Given the description of an element on the screen output the (x, y) to click on. 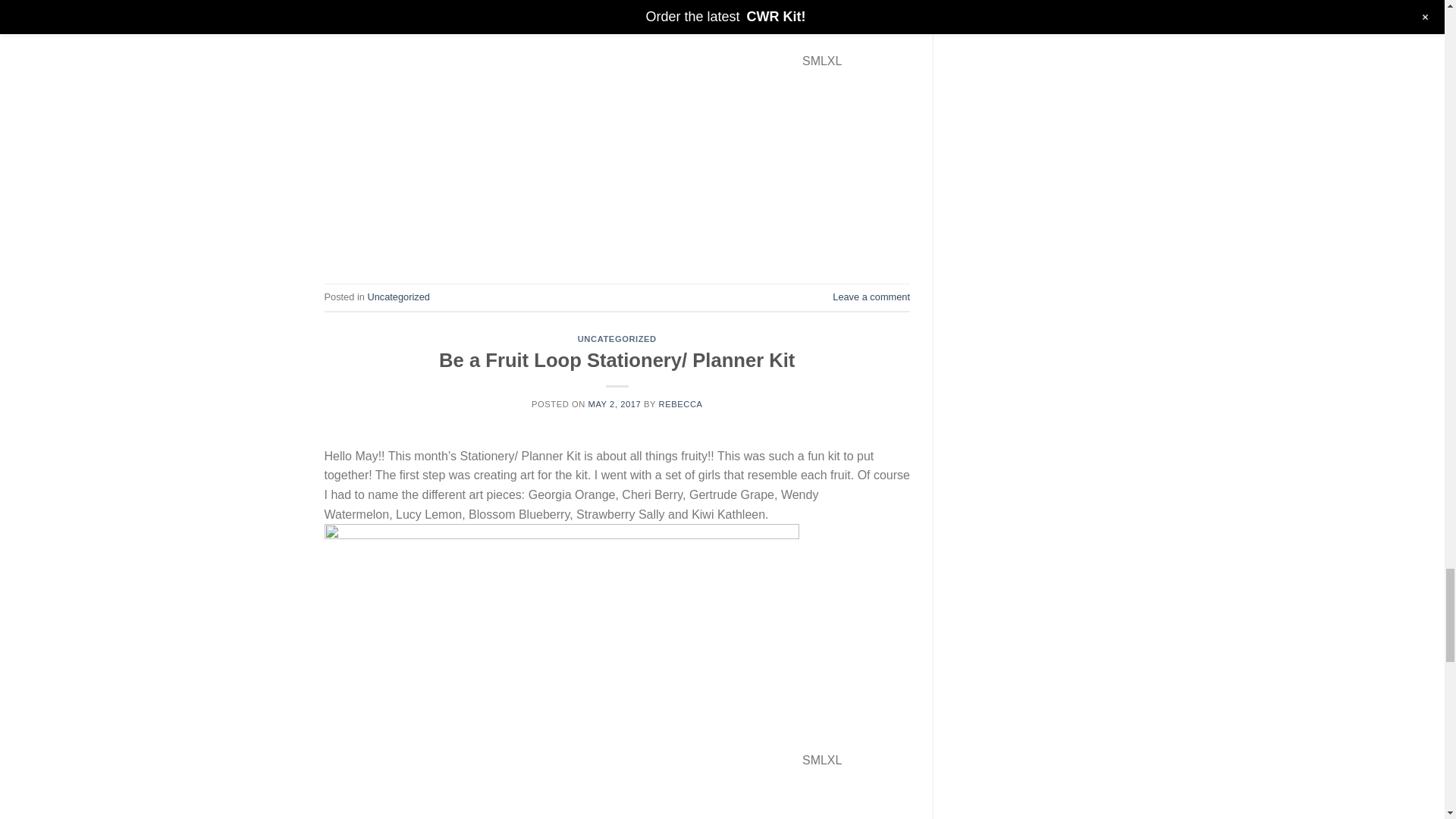
Uncategorized (397, 296)
Leave a comment (871, 296)
UNCATEGORIZED (617, 338)
Click and drag to move (330, 205)
